Given the description of an element on the screen output the (x, y) to click on. 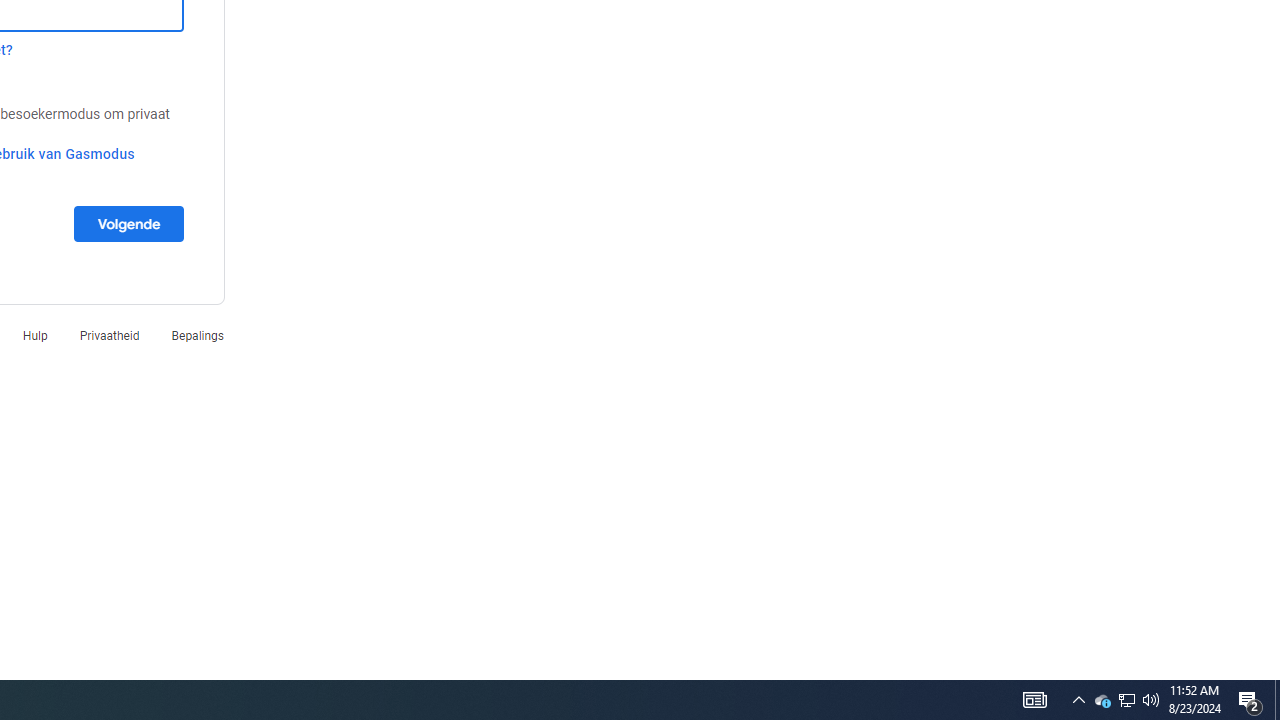
Hulp (35, 335)
Volgende (128, 223)
Privaatheid (109, 335)
Bepalings (197, 335)
